Given the description of an element on the screen output the (x, y) to click on. 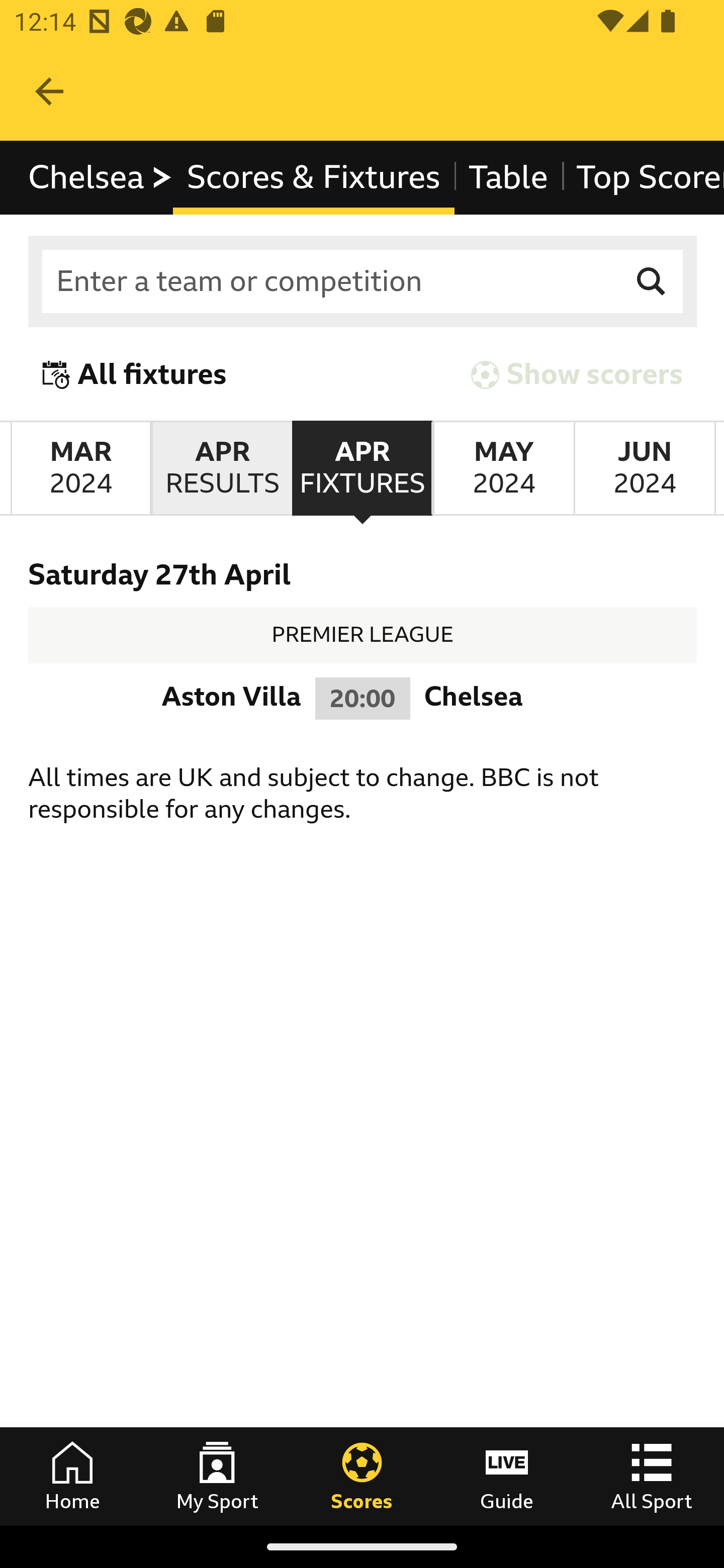
Navigate up (49, 91)
Chelsea  (100, 177)
Scores & Fixtures (313, 177)
Table (508, 177)
Top Scorers (642, 177)
Search (651, 282)
All fixtures (134, 374)
Show scorers (576, 374)
March2024 March 2024 (80, 468)
AprilRESULTS April RESULTS (221, 468)
AprilFIXTURES, Selected April FIXTURES , Selected (361, 468)
May2024 May 2024 (502, 468)
June2024 June 2024 (644, 468)
Home (72, 1475)
My Sport (216, 1475)
Guide (506, 1475)
All Sport (651, 1475)
